Given the description of an element on the screen output the (x, y) to click on. 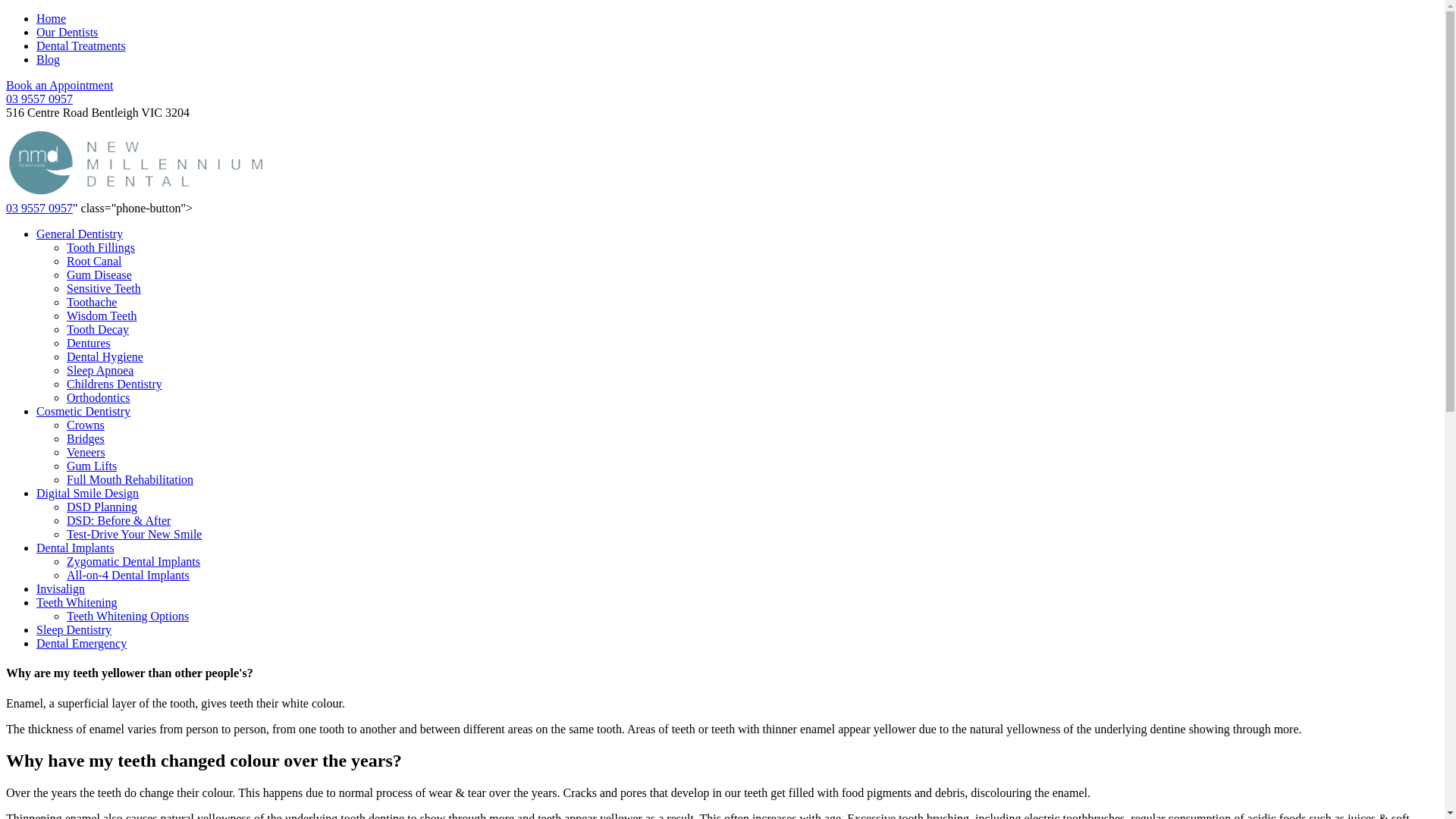
Our Dentists Element type: text (66, 31)
Blog Element type: text (47, 59)
Childrens Dentistry Element type: text (114, 383)
03 9557 0957 Element type: text (39, 98)
Orthodontics Element type: text (98, 397)
Gum Disease Element type: text (98, 274)
Dental Emergency Element type: text (81, 643)
Teeth Whitening Options Element type: text (127, 615)
Sleep Dentistry Element type: text (73, 629)
Sleep Apnoea Element type: text (99, 370)
Dental Hygiene Element type: text (104, 356)
Home Element type: text (50, 18)
Tooth Decay Element type: text (97, 329)
Dental Implants Element type: text (75, 547)
Cosmetic Dentistry Element type: text (83, 410)
Digital Smile Design Element type: text (87, 492)
Full Mouth Rehabilitation Element type: text (129, 479)
All-on-4 Dental Implants Element type: text (127, 574)
General Dentistry Element type: text (79, 233)
DSD: Before & After Element type: text (118, 520)
DSD Planning Element type: text (101, 506)
Wisdom Teeth Element type: text (101, 315)
Toothache Element type: text (91, 301)
Dentures Element type: text (88, 342)
Root Canal Element type: text (93, 260)
Teeth Whitening Element type: text (76, 602)
Test-Drive Your New Smile Element type: text (133, 533)
Bridges Element type: text (85, 438)
Gum Lifts Element type: text (91, 465)
Crowns Element type: text (85, 424)
Dental Treatments Element type: text (80, 45)
03 9557 0957 Element type: text (39, 207)
Tooth Fillings Element type: text (100, 247)
Sensitive Teeth Element type: text (103, 288)
Book an Appointment Element type: text (59, 84)
Veneers Element type: text (85, 451)
Zygomatic Dental Implants Element type: text (133, 561)
Invisalign Element type: text (60, 588)
